Given the description of an element on the screen output the (x, y) to click on. 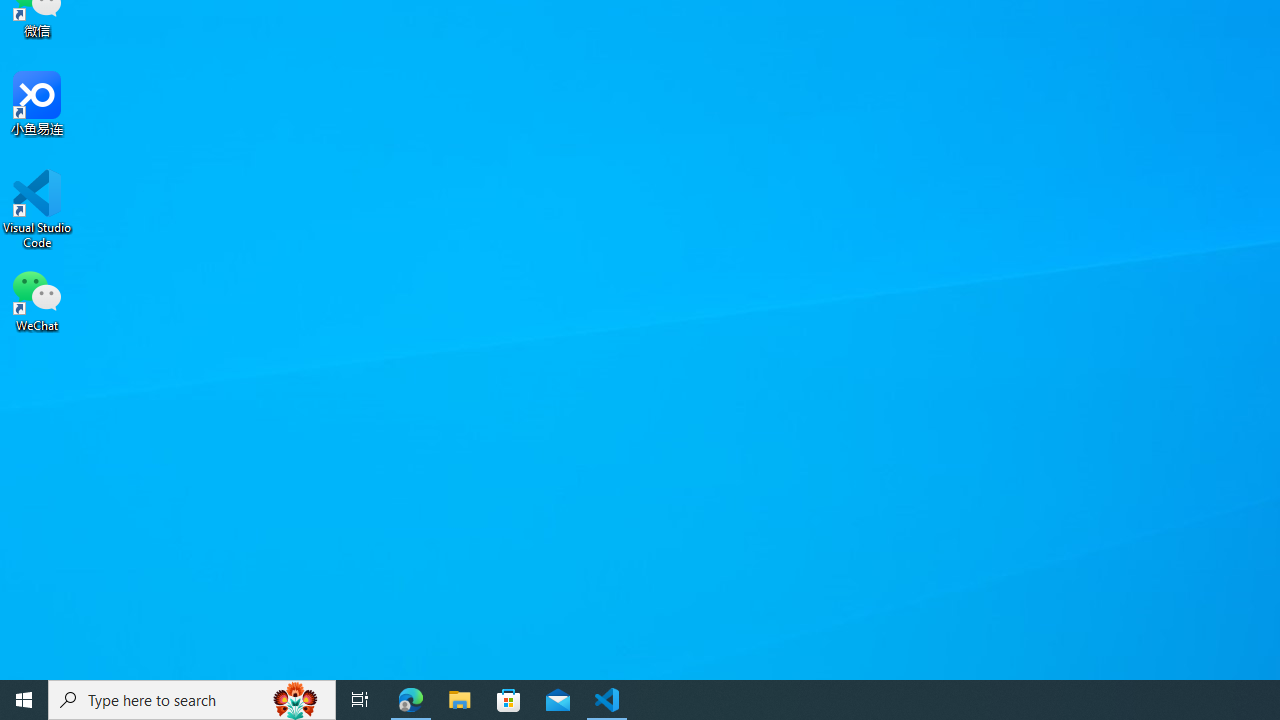
Task View (359, 699)
Microsoft Store (509, 699)
Visual Studio Code - 1 running window (607, 699)
Visual Studio Code (37, 209)
Start (24, 699)
Microsoft Edge - 1 running window (411, 699)
Type here to search (191, 699)
WeChat (37, 299)
Search highlights icon opens search home window (295, 699)
File Explorer (460, 699)
